Given the description of an element on the screen output the (x, y) to click on. 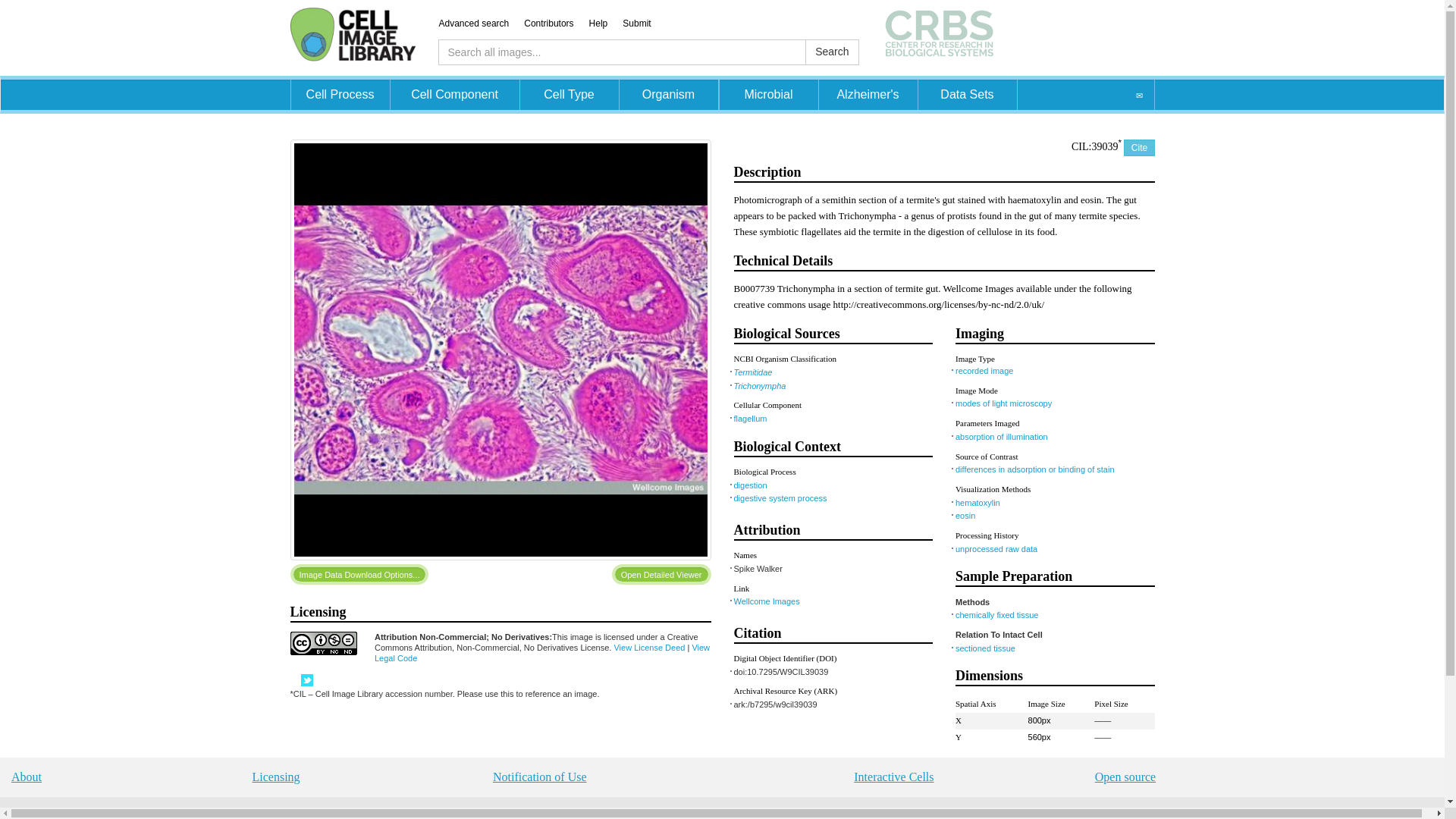
Cell Process (340, 94)
Organism (667, 94)
View Legal Code (542, 652)
digestive system process (780, 497)
Cell Component (454, 94)
differences in adsorption or binding of stain (1035, 469)
 Cite  (1139, 147)
modes of light microscopy (1003, 402)
digestion (750, 484)
Help (606, 23)
